Given the description of an element on the screen output the (x, y) to click on. 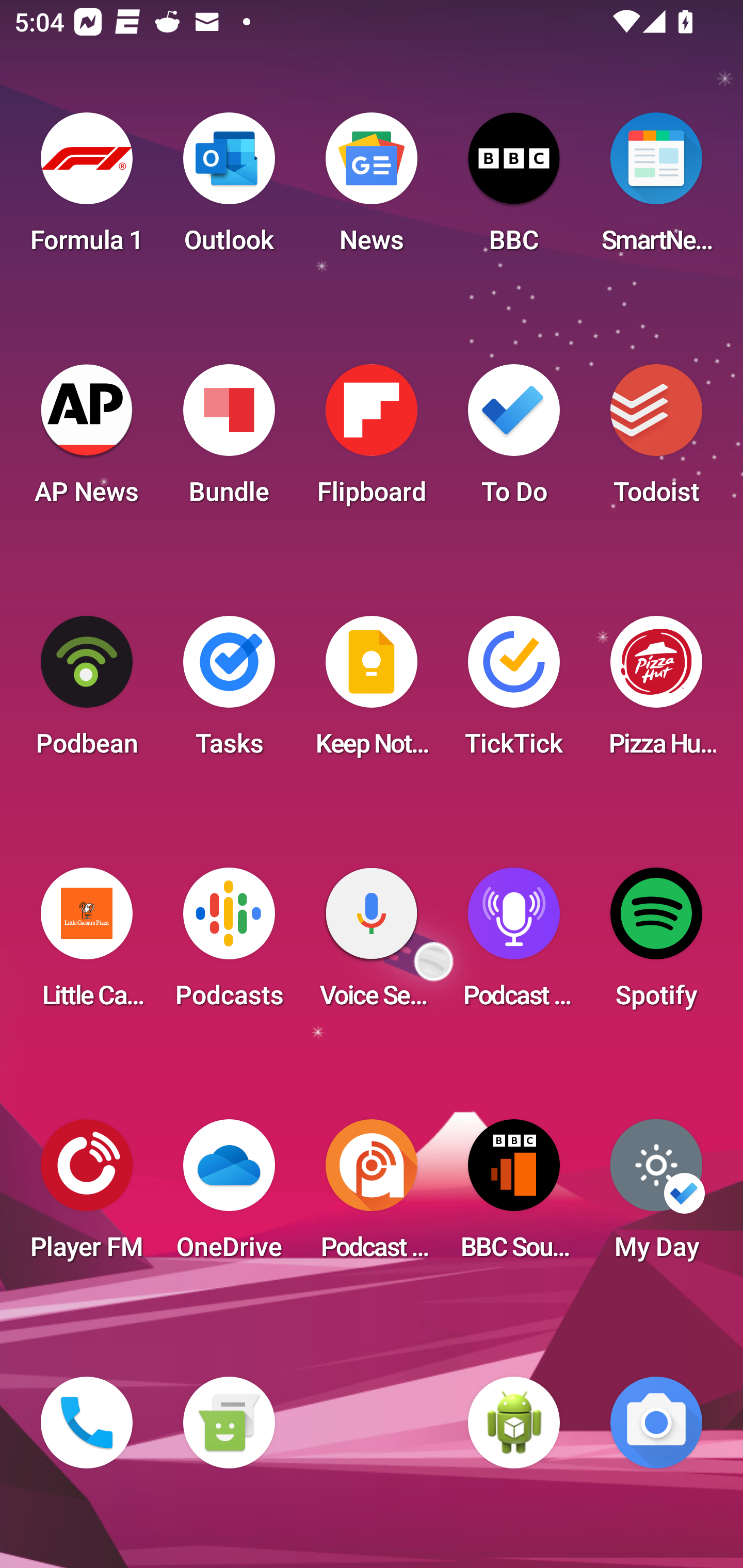
Formula 1 (86, 188)
Outlook (228, 188)
News (371, 188)
BBC (513, 188)
SmartNews (656, 188)
AP News (86, 440)
Bundle (228, 440)
Flipboard (371, 440)
To Do (513, 440)
Todoist (656, 440)
Podbean (86, 692)
Tasks (228, 692)
Keep Notes (371, 692)
TickTick (513, 692)
Pizza Hut HK & Macau (656, 692)
Little Caesars Pizza (86, 943)
Podcasts (228, 943)
Voice Search (371, 943)
Podcast Player (513, 943)
Spotify (656, 943)
Player FM (86, 1195)
OneDrive (228, 1195)
Podcast Addict (371, 1195)
BBC Sounds (513, 1195)
My Day (656, 1195)
Phone (86, 1422)
Messaging (228, 1422)
WebView Browser Tester (513, 1422)
Camera (656, 1422)
